Given the description of an element on the screen output the (x, y) to click on. 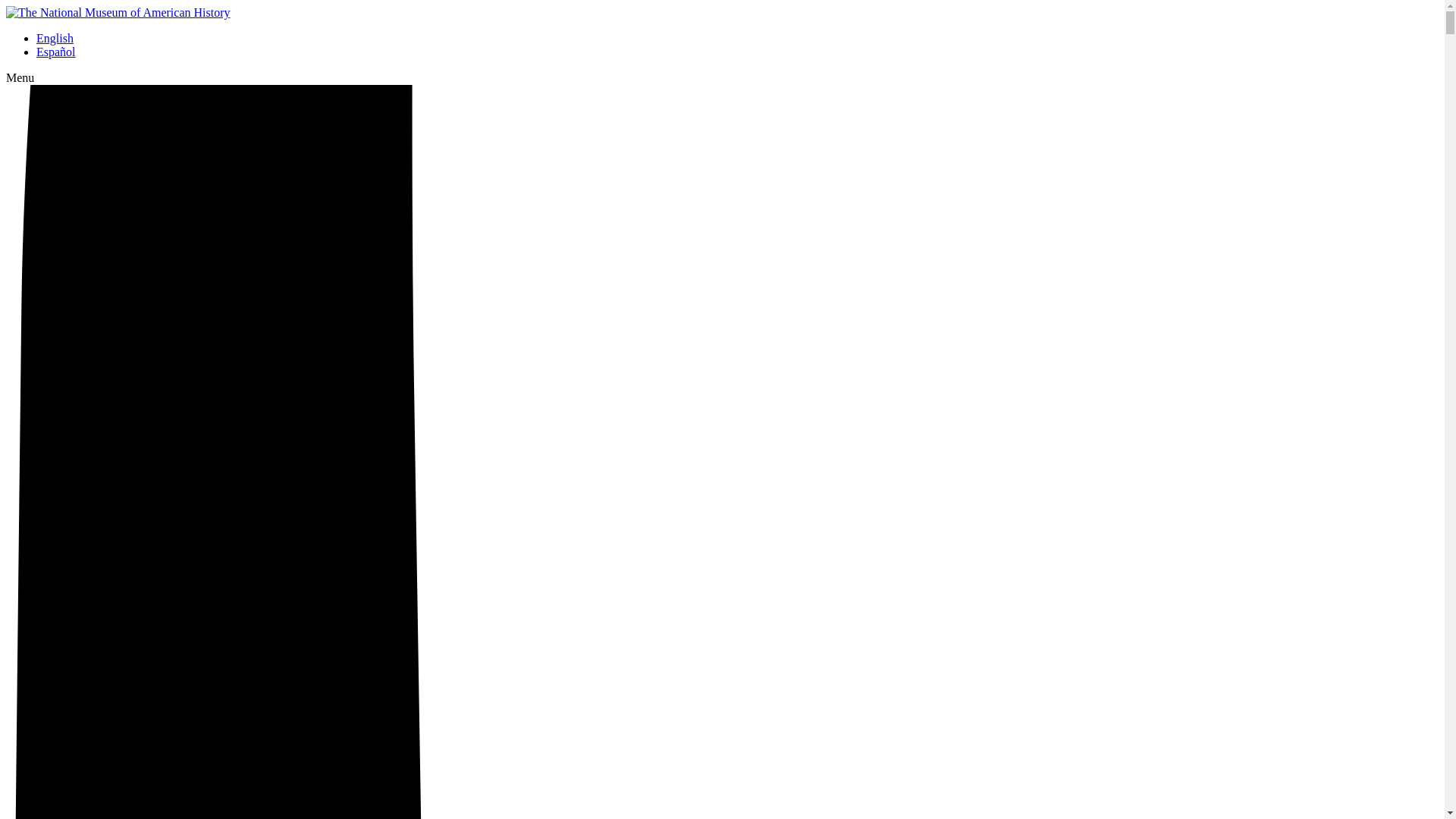
English (55, 38)
American History Home (117, 11)
